Given the description of an element on the screen output the (x, y) to click on. 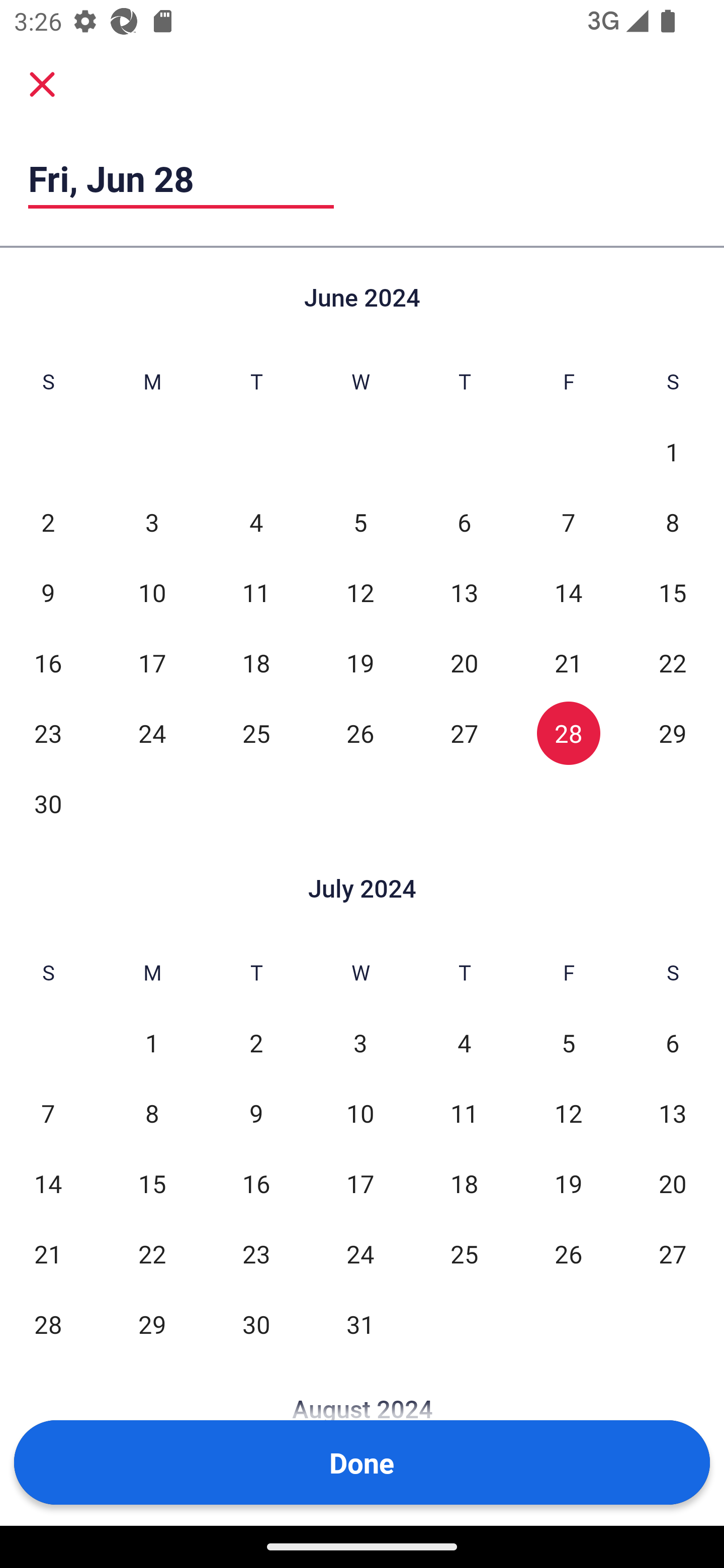
Cancel (41, 83)
Fri, Jun 28 (180, 178)
1 Sat, Jun 1, Not Selected (672, 452)
2 Sun, Jun 2, Not Selected (48, 521)
3 Mon, Jun 3, Not Selected (152, 521)
4 Tue, Jun 4, Not Selected (256, 521)
5 Wed, Jun 5, Not Selected (360, 521)
6 Thu, Jun 6, Not Selected (464, 521)
7 Fri, Jun 7, Not Selected (568, 521)
8 Sat, Jun 8, Not Selected (672, 521)
9 Sun, Jun 9, Not Selected (48, 591)
10 Mon, Jun 10, Not Selected (152, 591)
11 Tue, Jun 11, Not Selected (256, 591)
12 Wed, Jun 12, Not Selected (360, 591)
13 Thu, Jun 13, Not Selected (464, 591)
14 Fri, Jun 14, Not Selected (568, 591)
15 Sat, Jun 15, Not Selected (672, 591)
16 Sun, Jun 16, Not Selected (48, 662)
17 Mon, Jun 17, Not Selected (152, 662)
18 Tue, Jun 18, Not Selected (256, 662)
19 Wed, Jun 19, Not Selected (360, 662)
20 Thu, Jun 20, Not Selected (464, 662)
21 Fri, Jun 21, Not Selected (568, 662)
22 Sat, Jun 22, Not Selected (672, 662)
23 Sun, Jun 23, Not Selected (48, 732)
24 Mon, Jun 24, Not Selected (152, 732)
25 Tue, Jun 25, Not Selected (256, 732)
26 Wed, Jun 26, Not Selected (360, 732)
27 Thu, Jun 27, Not Selected (464, 732)
28 Fri, Jun 28, Selected (568, 732)
29 Sat, Jun 29, Not Selected (672, 732)
30 Sun, Jun 30, Not Selected (48, 803)
1 Mon, Jul 1, Not Selected (152, 1043)
2 Tue, Jul 2, Not Selected (256, 1043)
3 Wed, Jul 3, Not Selected (360, 1043)
4 Thu, Jul 4, Not Selected (464, 1043)
5 Fri, Jul 5, Not Selected (568, 1043)
6 Sat, Jul 6, Not Selected (672, 1043)
7 Sun, Jul 7, Not Selected (48, 1112)
8 Mon, Jul 8, Not Selected (152, 1112)
9 Tue, Jul 9, Not Selected (256, 1112)
10 Wed, Jul 10, Not Selected (360, 1112)
11 Thu, Jul 11, Not Selected (464, 1112)
12 Fri, Jul 12, Not Selected (568, 1112)
13 Sat, Jul 13, Not Selected (672, 1112)
14 Sun, Jul 14, Not Selected (48, 1182)
15 Mon, Jul 15, Not Selected (152, 1182)
16 Tue, Jul 16, Not Selected (256, 1182)
17 Wed, Jul 17, Not Selected (360, 1182)
18 Thu, Jul 18, Not Selected (464, 1182)
19 Fri, Jul 19, Not Selected (568, 1182)
20 Sat, Jul 20, Not Selected (672, 1182)
21 Sun, Jul 21, Not Selected (48, 1253)
22 Mon, Jul 22, Not Selected (152, 1253)
23 Tue, Jul 23, Not Selected (256, 1253)
24 Wed, Jul 24, Not Selected (360, 1253)
25 Thu, Jul 25, Not Selected (464, 1253)
26 Fri, Jul 26, Not Selected (568, 1253)
27 Sat, Jul 27, Not Selected (672, 1253)
28 Sun, Jul 28, Not Selected (48, 1323)
29 Mon, Jul 29, Not Selected (152, 1323)
30 Tue, Jul 30, Not Selected (256, 1323)
31 Wed, Jul 31, Not Selected (360, 1323)
Done Button Done (361, 1462)
